Given the description of an element on the screen output the (x, y) to click on. 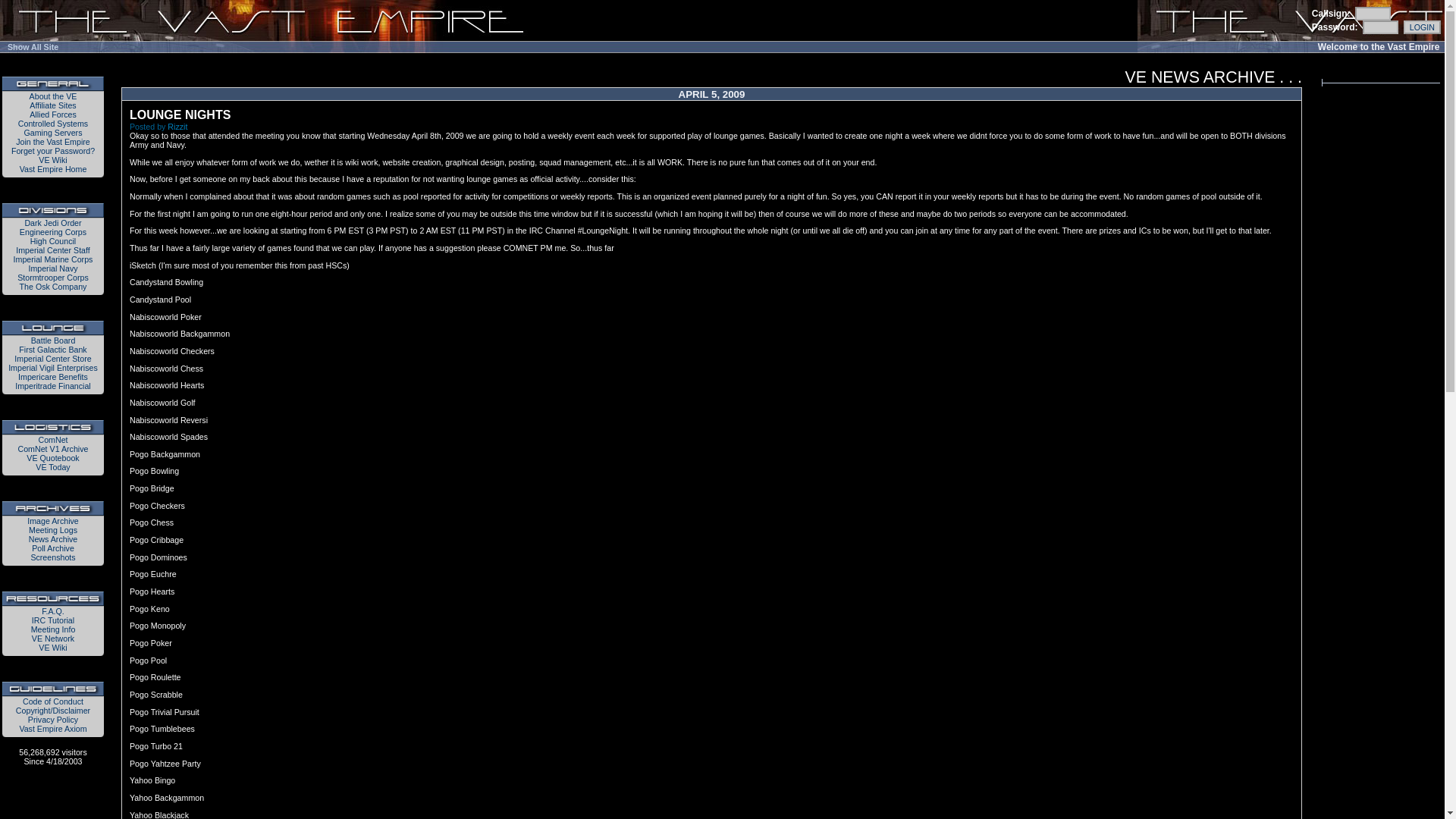
Poll Archive (53, 547)
Gaming Servers (53, 132)
ComNet V1 Archive (52, 448)
Imperitrade Financial (52, 385)
F.A.Q. (53, 610)
First Galactic Bank (51, 348)
VE Network (53, 637)
IRC Tutorial (53, 619)
Meeting Logs (53, 529)
Meeting Info (52, 628)
